Given the description of an element on the screen output the (x, y) to click on. 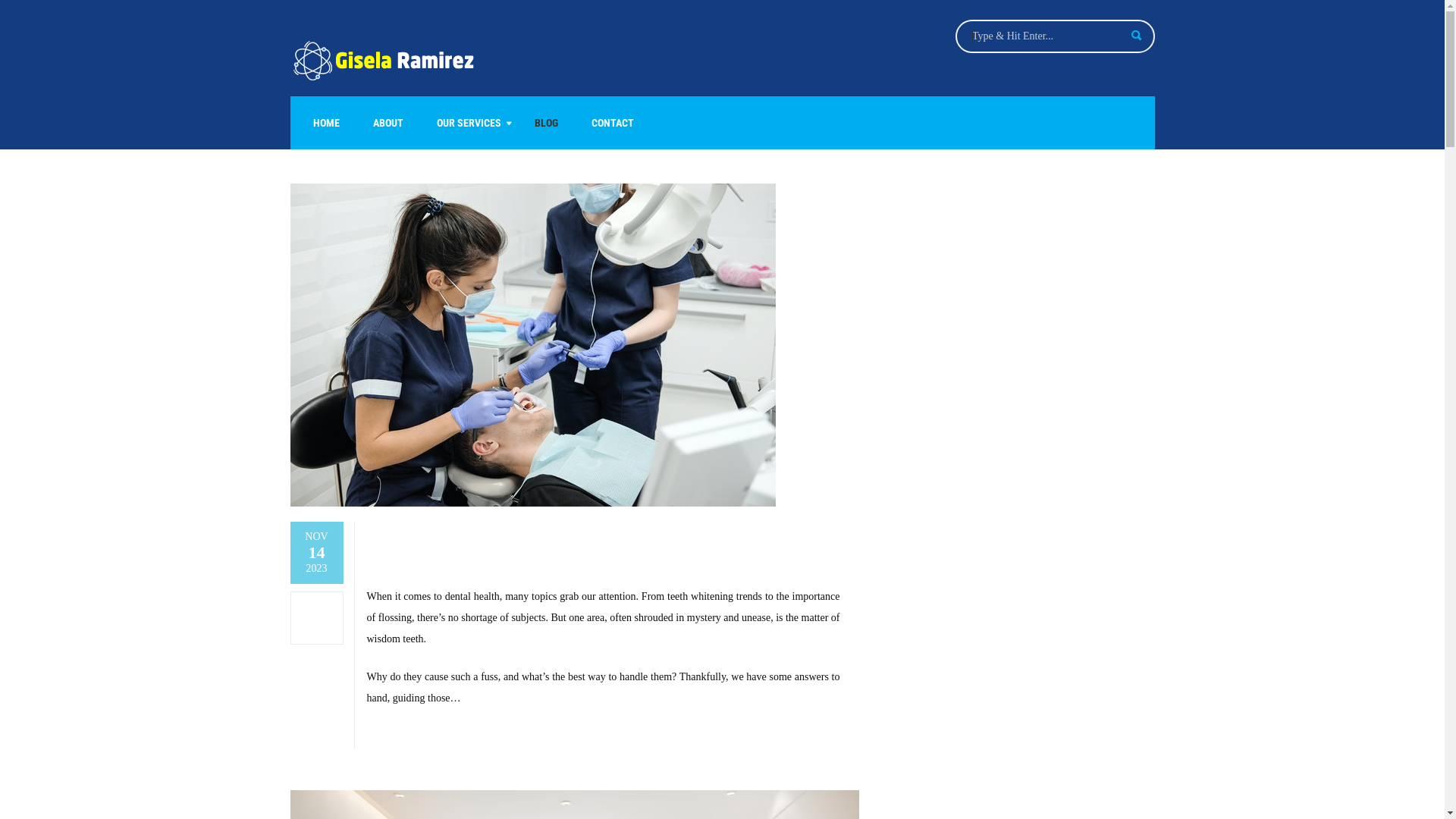
HOME Element type: text (325, 122)
The Hidden Benefits of Addressing Wisdom Teeth Early Element type: text (593, 547)
BLOG Element type: text (545, 122)
CONTACT Element type: text (612, 122)
OUR SERVICES Element type: text (468, 122)
READ MORE Element type: text (398, 737)
ABOUT Element type: text (388, 122)
0 Element type: text (316, 617)
